Given the description of an element on the screen output the (x, y) to click on. 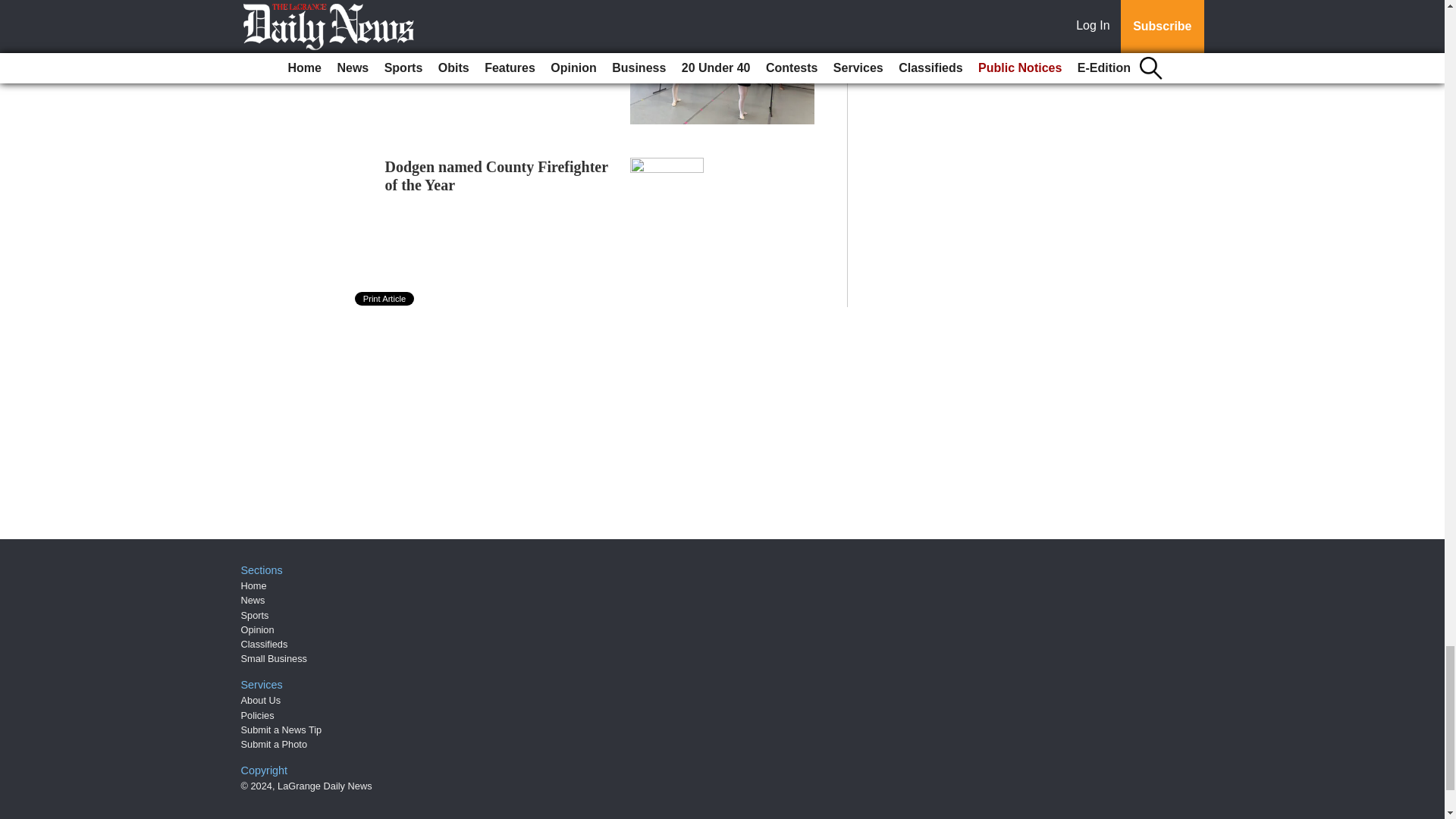
Dodgen named County Firefighter of the Year (496, 175)
Print Article (384, 298)
Home (253, 585)
Dodgen named County Firefighter of the Year (496, 175)
News (252, 600)
